Given the description of an element on the screen output the (x, y) to click on. 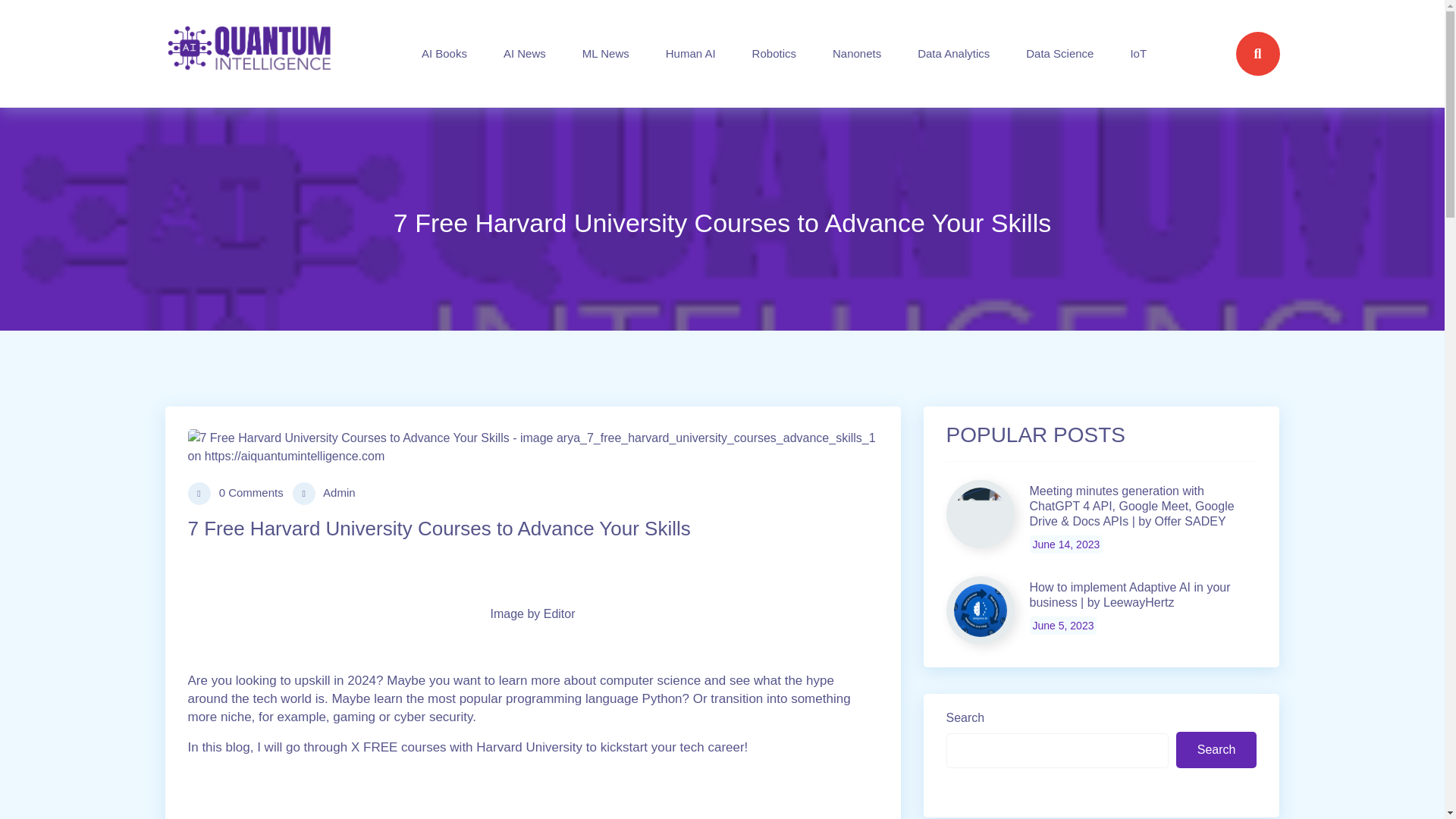
Admin (323, 493)
AI Quantum Intelligence (248, 53)
Admin (323, 493)
0 Comments (235, 493)
